Given the description of an element on the screen output the (x, y) to click on. 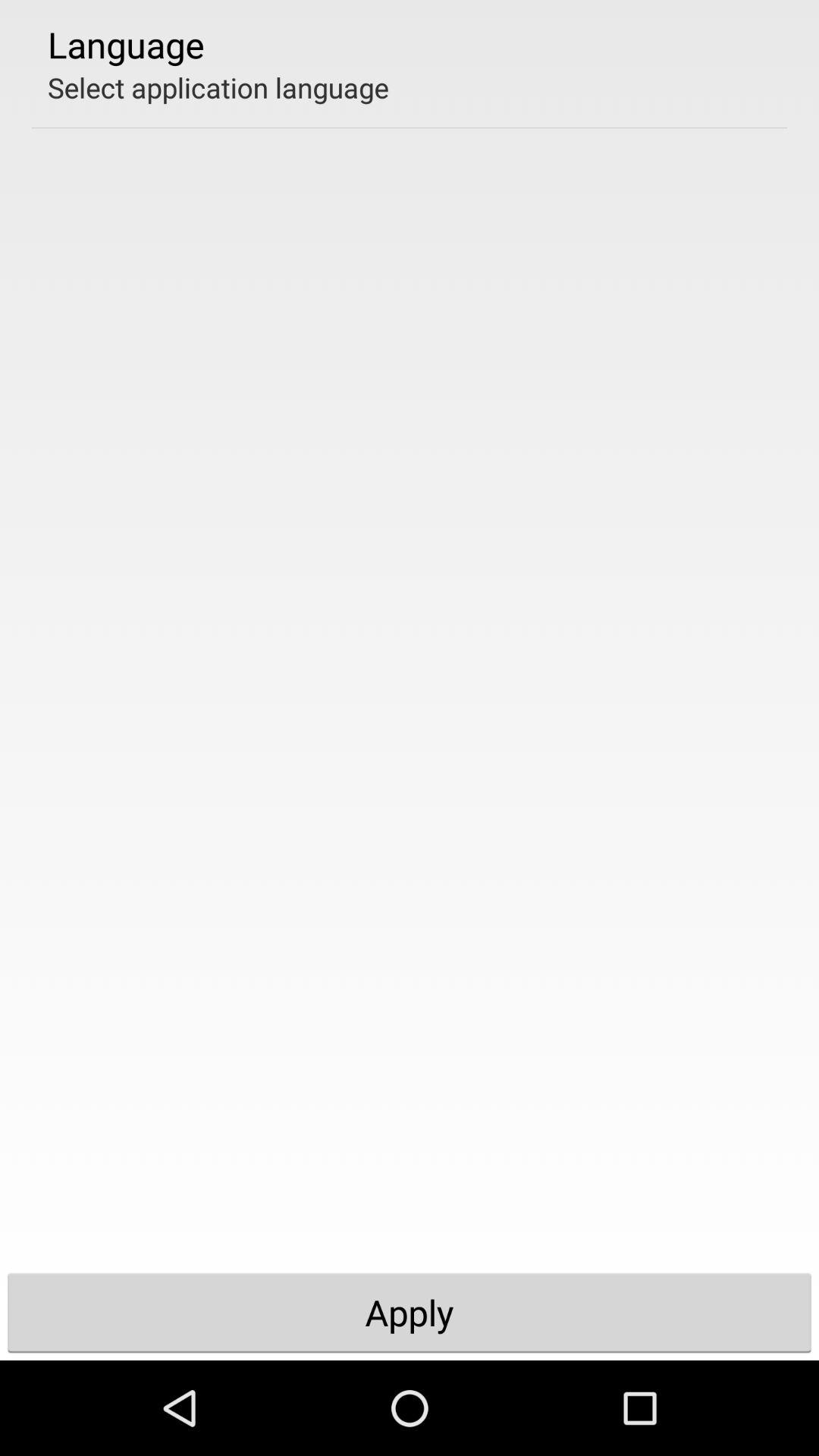
swipe to select application language (218, 87)
